Given the description of an element on the screen output the (x, y) to click on. 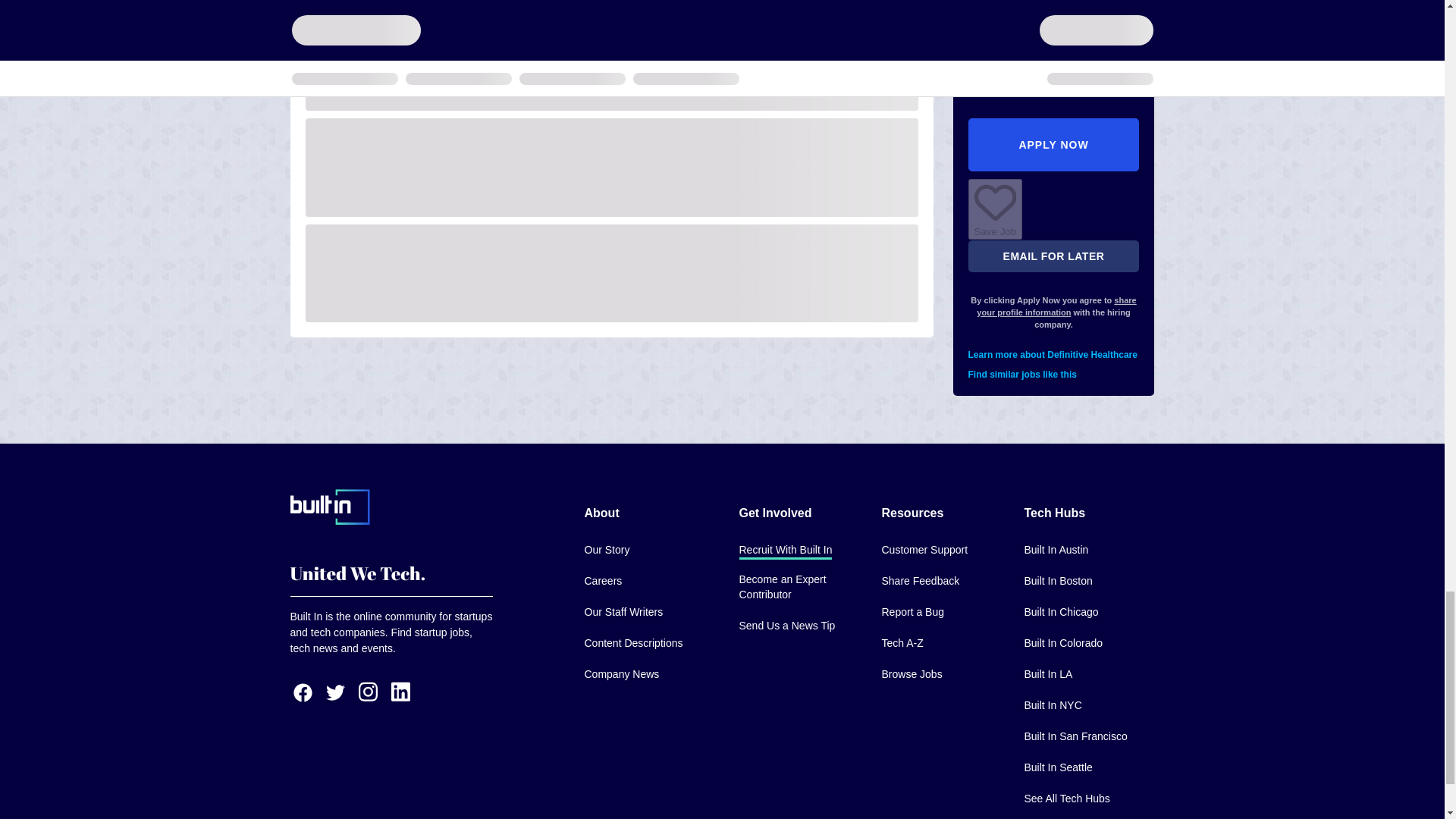
Send Us a News Tip (786, 626)
Report a Bug (911, 612)
Customer Support (924, 550)
Company News (621, 674)
Recruit With Built In (784, 550)
Content Descriptions (632, 643)
Share Feedback (919, 581)
Our Story (605, 550)
Careers (602, 581)
Tech A-Z (901, 643)
